Given the description of an element on the screen output the (x, y) to click on. 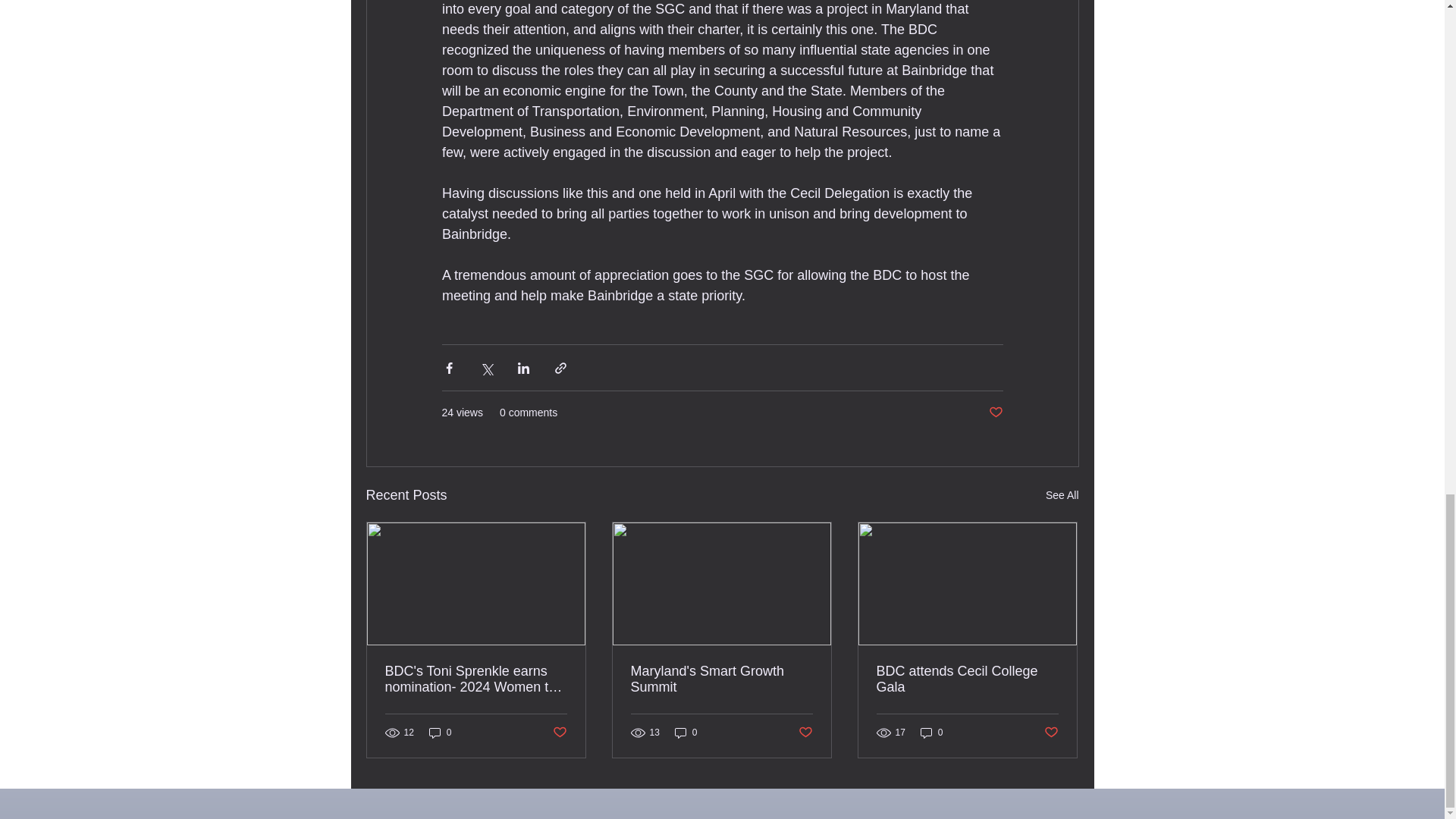
See All (1061, 495)
BDC's Toni Sprenkle earns nomination- 2024 Women to Watch! (476, 679)
0 (685, 732)
Post not marked as liked (995, 412)
BDC attends Cecil College Gala (967, 679)
Post not marked as liked (804, 731)
0 (931, 732)
Post not marked as liked (1050, 731)
0 (440, 732)
Maryland's Smart Growth Summit (721, 679)
Post not marked as liked (558, 731)
